Given the description of an element on the screen output the (x, y) to click on. 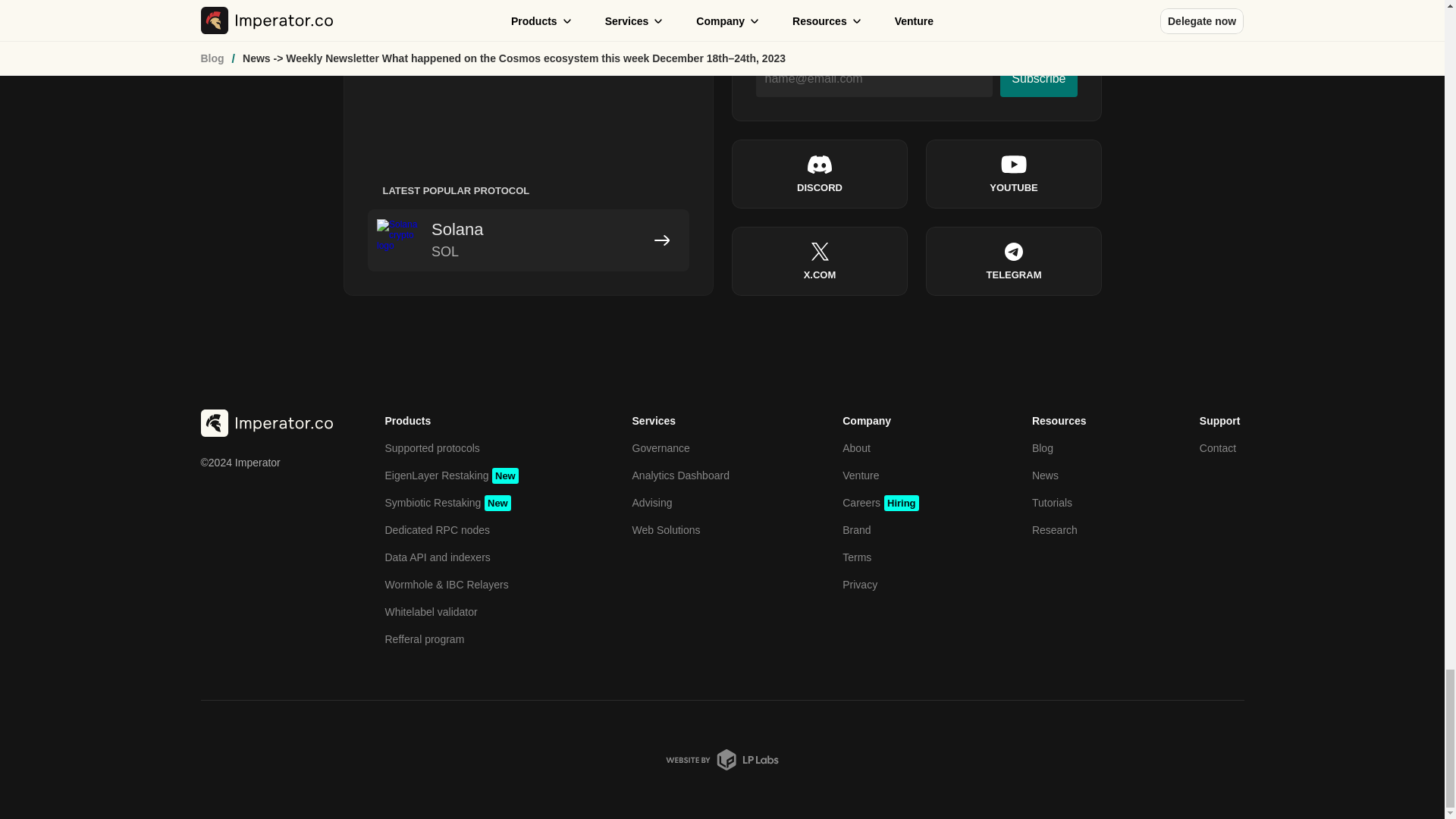
Subscribe (1038, 78)
